Given the description of an element on the screen output the (x, y) to click on. 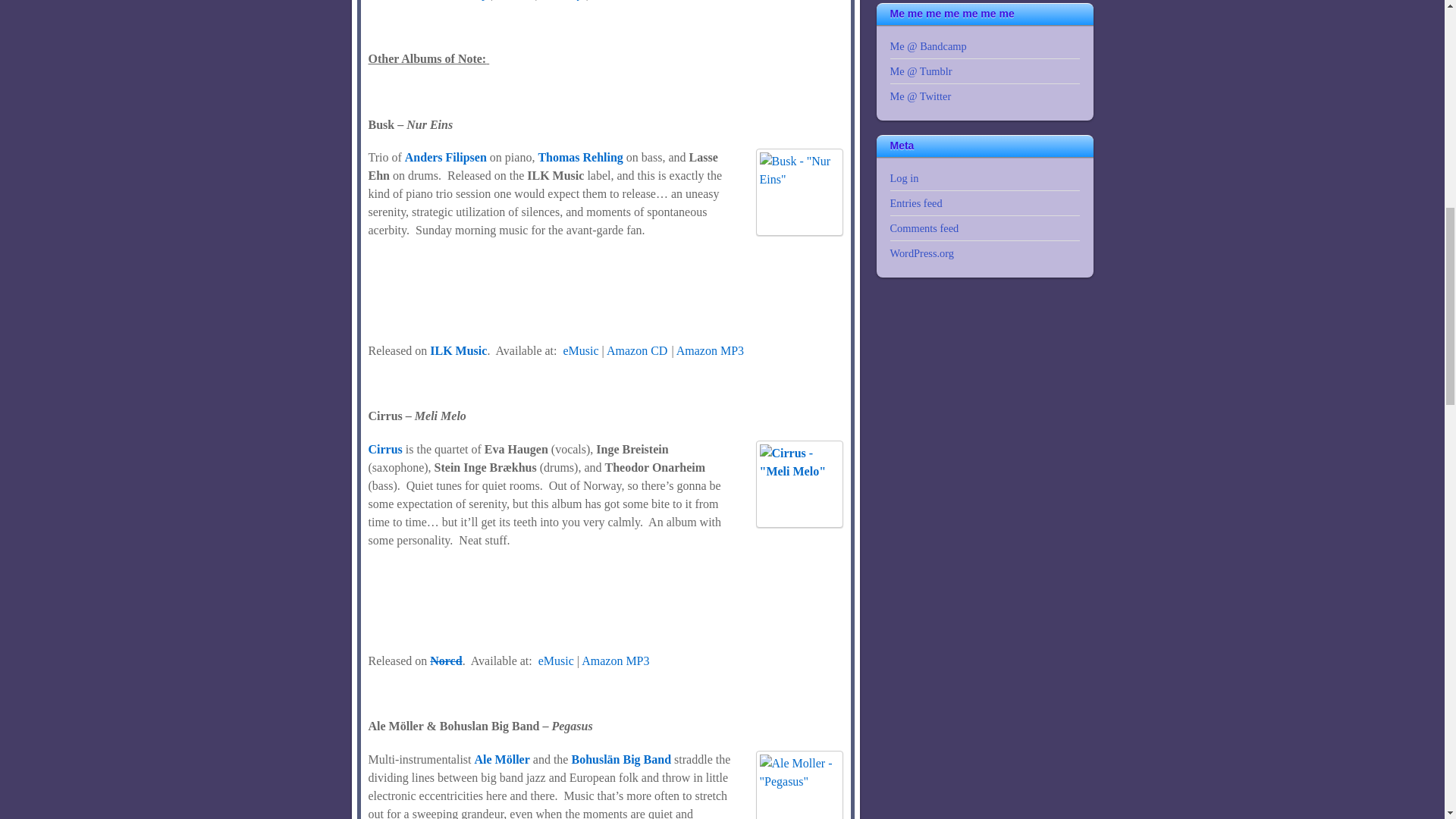
link to emusic album page (554, 660)
link to artist site (445, 156)
eMusic (580, 350)
Cirrus (385, 449)
ILK Music (457, 350)
Amazon MP3 (614, 660)
link to artist facebook page (580, 156)
Amazon CD (636, 350)
Norcd (445, 660)
eMusic (554, 660)
